Given the description of an element on the screen output the (x, y) to click on. 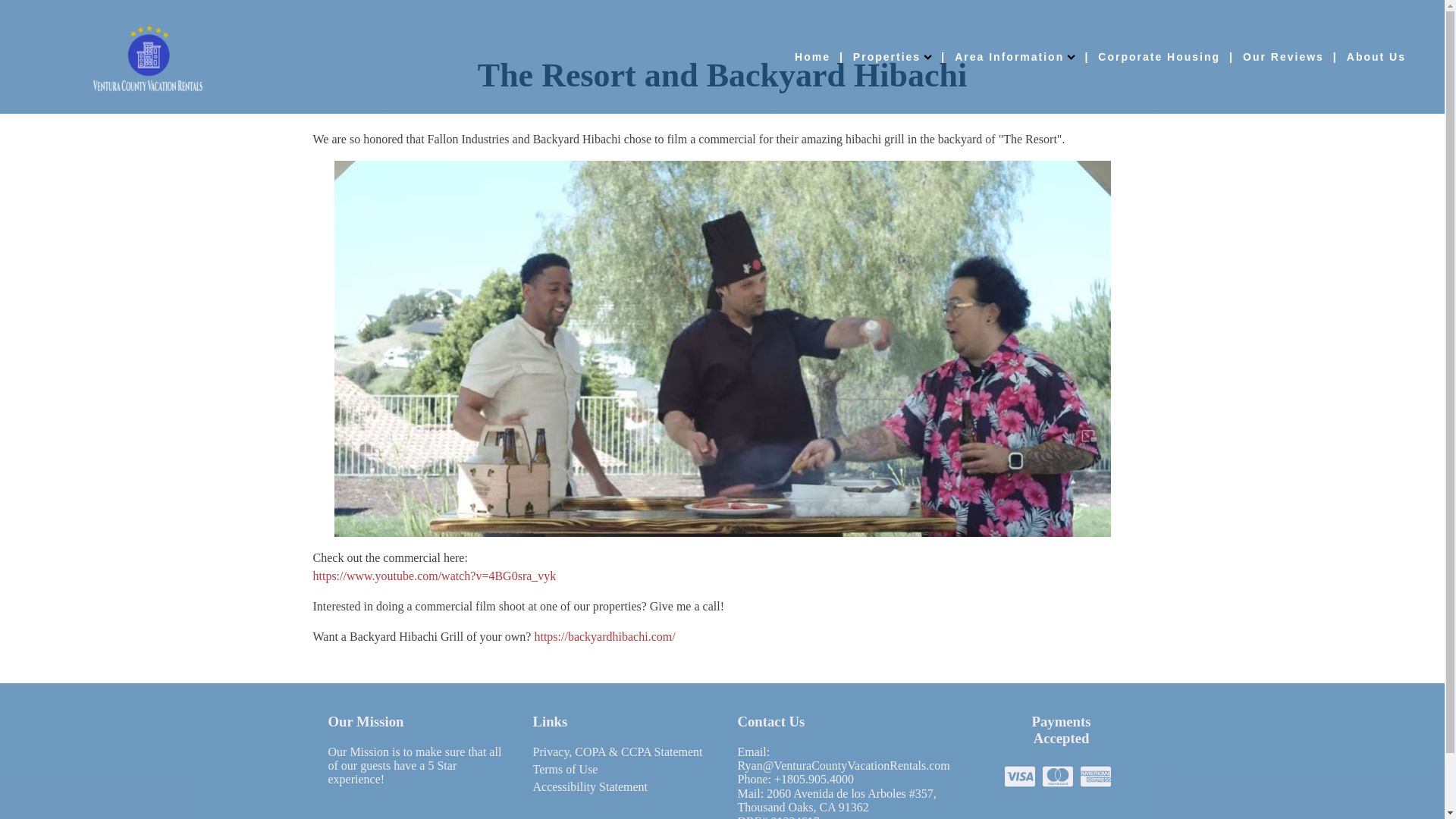
Terms of Use (564, 771)
Area Information (1015, 56)
About Us (1376, 56)
Accessibility Statement (589, 788)
Corporate Housing (1158, 56)
Our Reviews (1283, 56)
Home (812, 56)
Properties (892, 56)
